Given the description of an element on the screen output the (x, y) to click on. 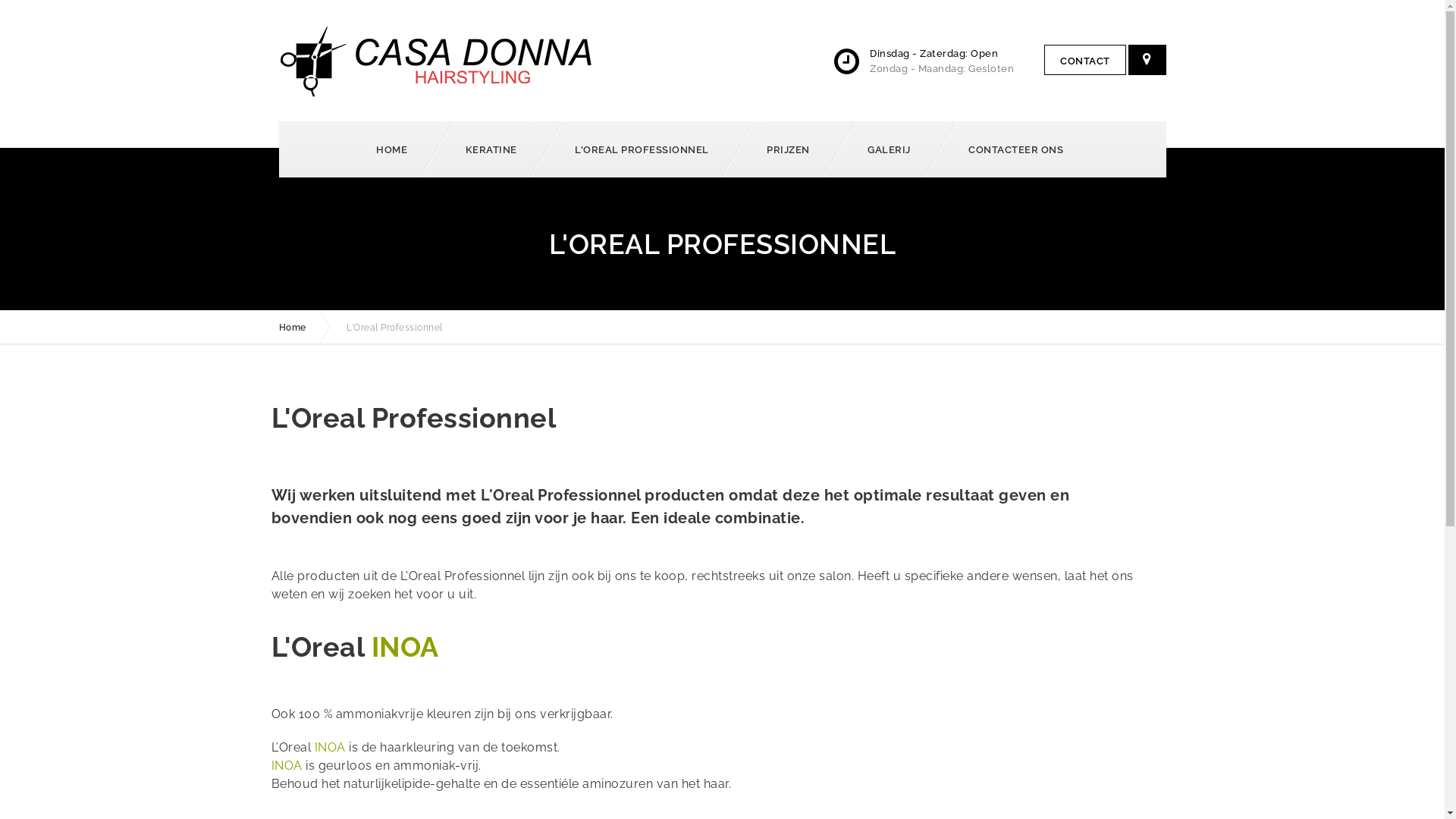
CONTACTEER ONS Element type: text (1018, 148)
KERATINE Element type: text (492, 148)
Dinsdag - Zaterdag: Open
Zondag - Maandag: Gesloten Element type: text (923, 67)
Home Element type: text (311, 326)
CONTACT Element type: text (1085, 59)
PRIJZEN Element type: text (790, 148)
HOME Element type: text (394, 148)
GALERIJ Element type: text (891, 148)
L'OREAL PROFESSIONNEL Element type: text (644, 148)
